Given the description of an element on the screen output the (x, y) to click on. 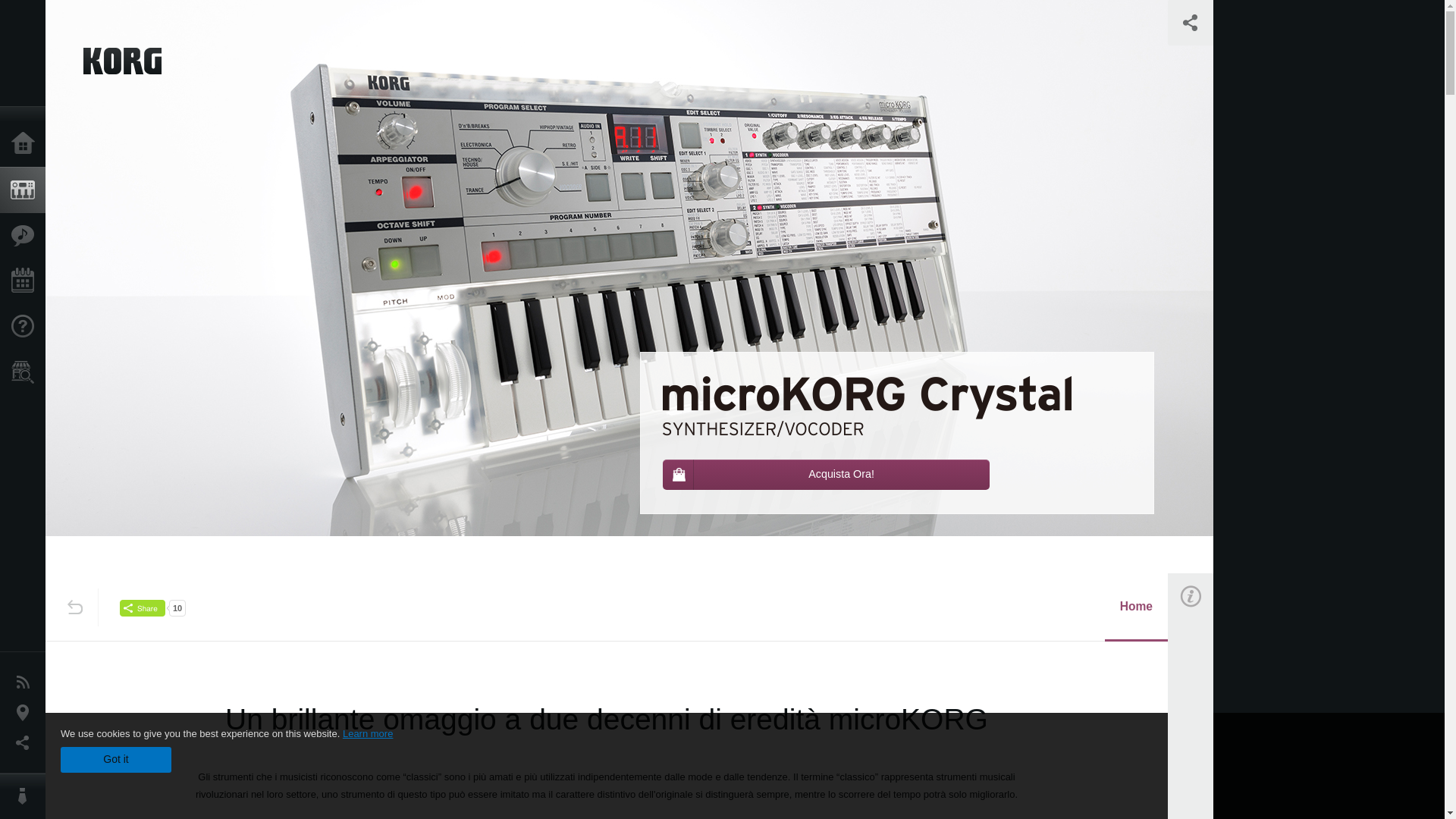
Supporto tecnico (26, 326)
Eventi (26, 280)
A proposito di Korg (26, 796)
Home (26, 144)
Social Media (26, 743)
Dove Acquistare (26, 371)
Home (1136, 607)
Prodotti (26, 189)
Contenuti (26, 235)
Paesi (26, 712)
News (26, 682)
Acquista Ora! (826, 474)
